Given the description of an element on the screen output the (x, y) to click on. 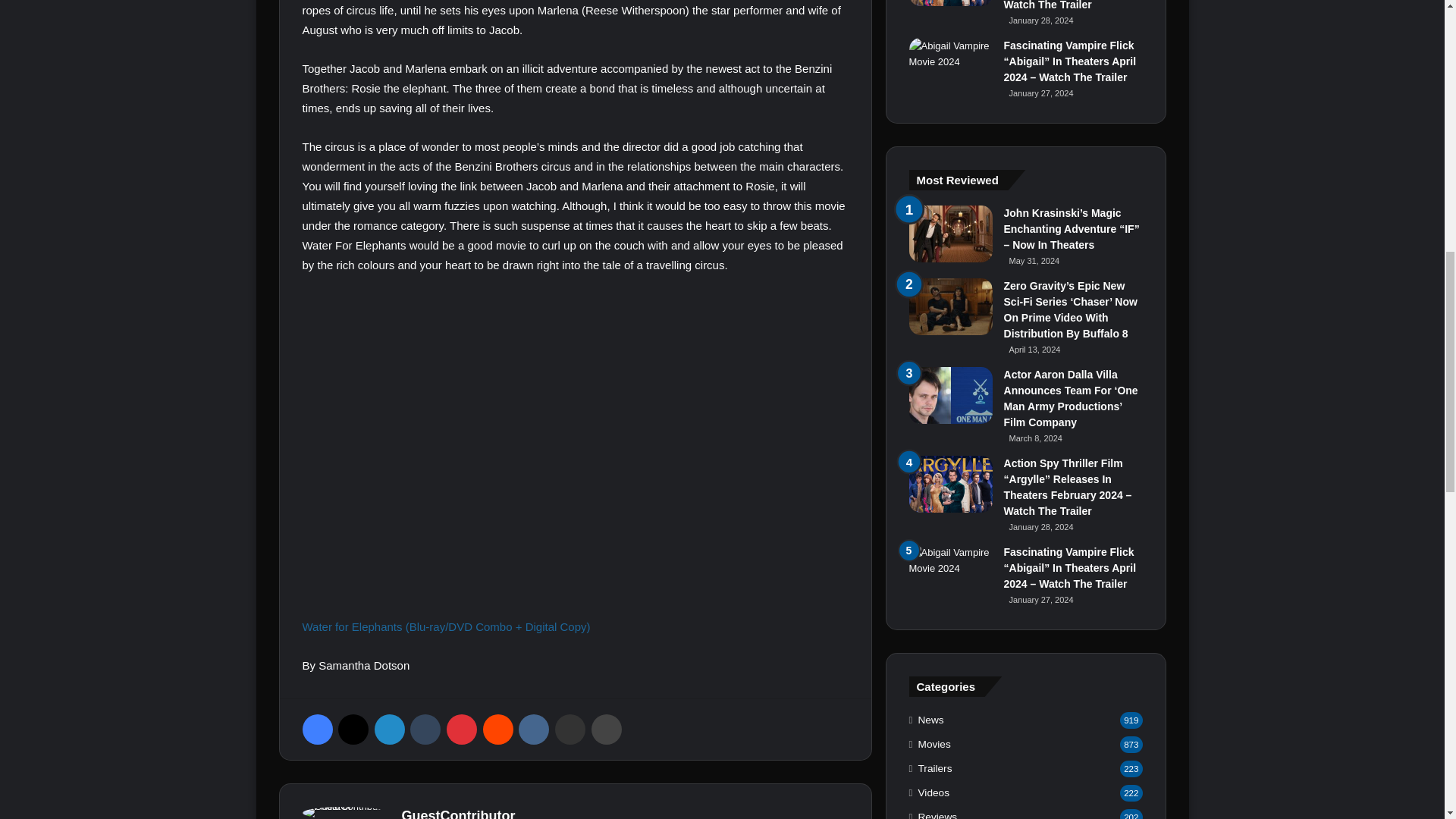
Tumblr (425, 729)
Facebook (316, 729)
VKontakte (533, 729)
Print (606, 729)
X (352, 729)
Pinterest (461, 729)
LinkedIn (389, 729)
Share via Email (569, 729)
Reddit (498, 729)
